Given the description of an element on the screen output the (x, y) to click on. 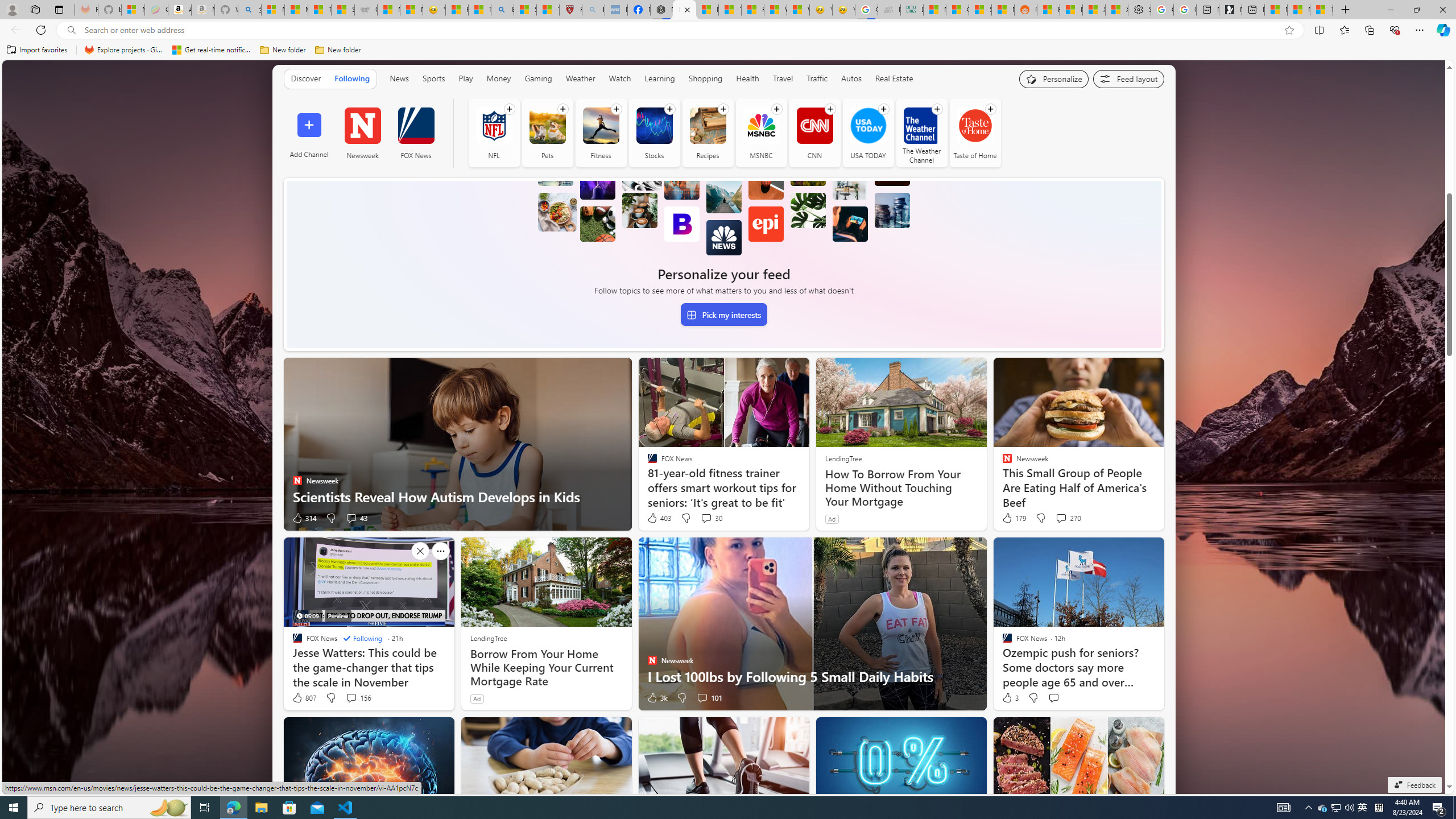
Shopping (705, 78)
CNN (814, 125)
The Weather Channel (921, 125)
MSNBC (761, 133)
403 Like (658, 517)
USA TODAY (868, 125)
Fitness (600, 133)
